Given the description of an element on the screen output the (x, y) to click on. 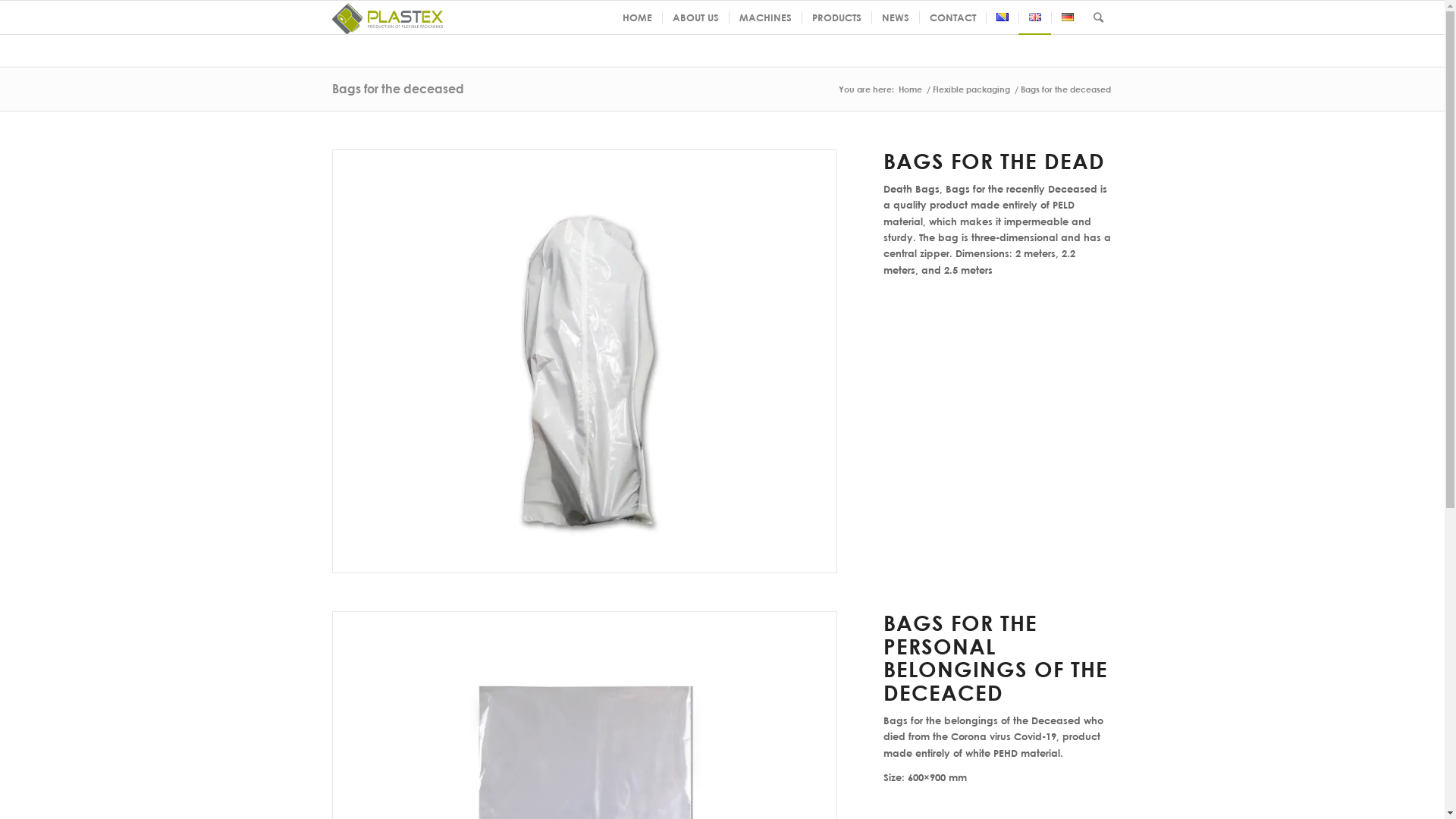
Home Element type: text (910, 88)
NEWS Element type: text (894, 17)
PRODUCTS Element type: text (835, 17)
ABOUT US Element type: text (694, 17)
Bags for the deceased Element type: text (398, 88)
MACHINES Element type: text (764, 17)
CONTACT Element type: text (952, 17)
HOME Element type: text (637, 17)
Flexible packaging Element type: text (970, 88)
